Given the description of an element on the screen output the (x, y) to click on. 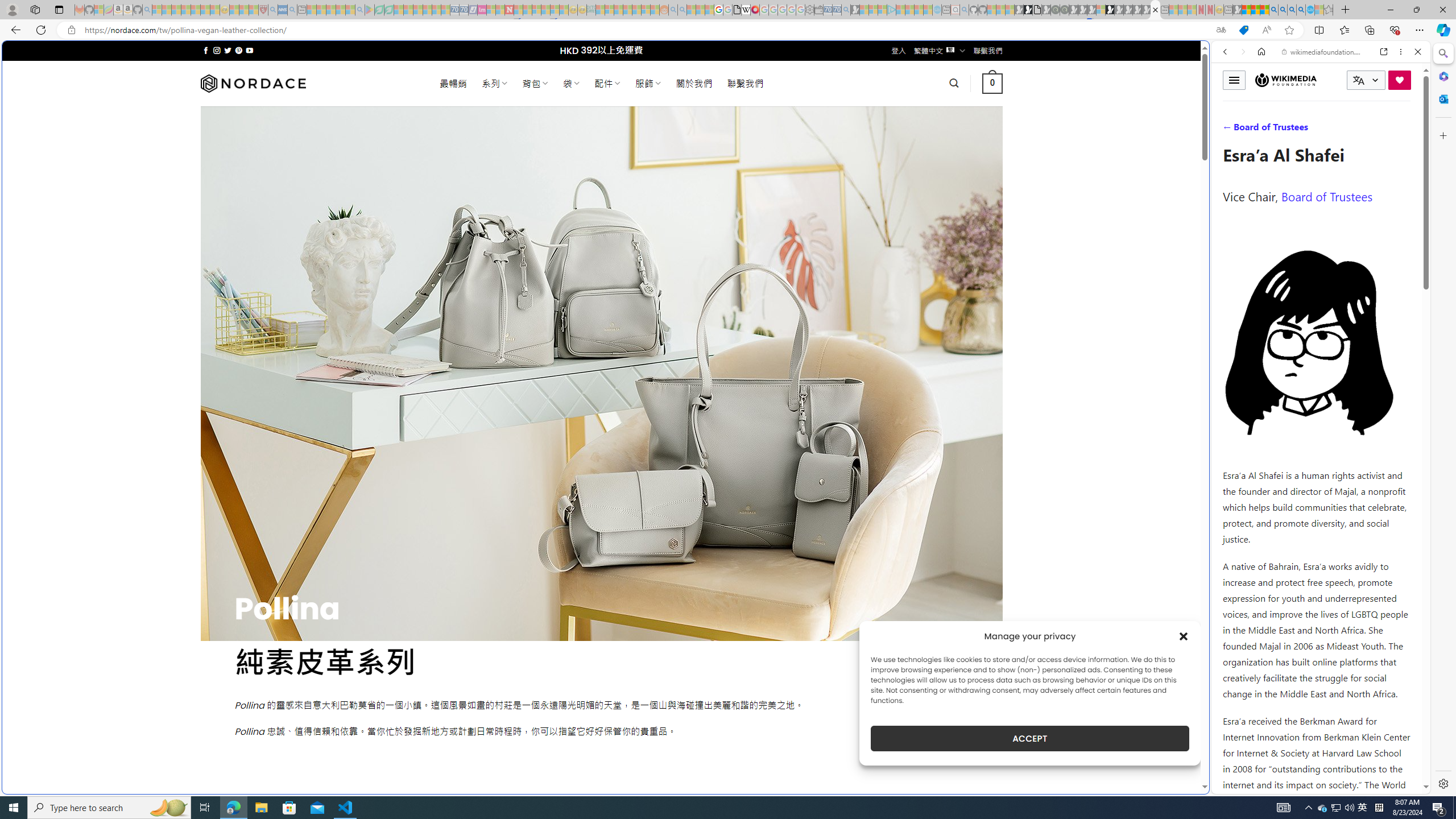
Copilot (Ctrl+Shift+.) (1442, 29)
Close Outlook pane (1442, 98)
Nordace - Pollina Vegan Leather Collection (1154, 9)
VIDEOS (1300, 130)
MediaWiki (754, 9)
Pets - MSN - Sleeping (340, 9)
ACCEPT (1029, 738)
